Given the description of an element on the screen output the (x, y) to click on. 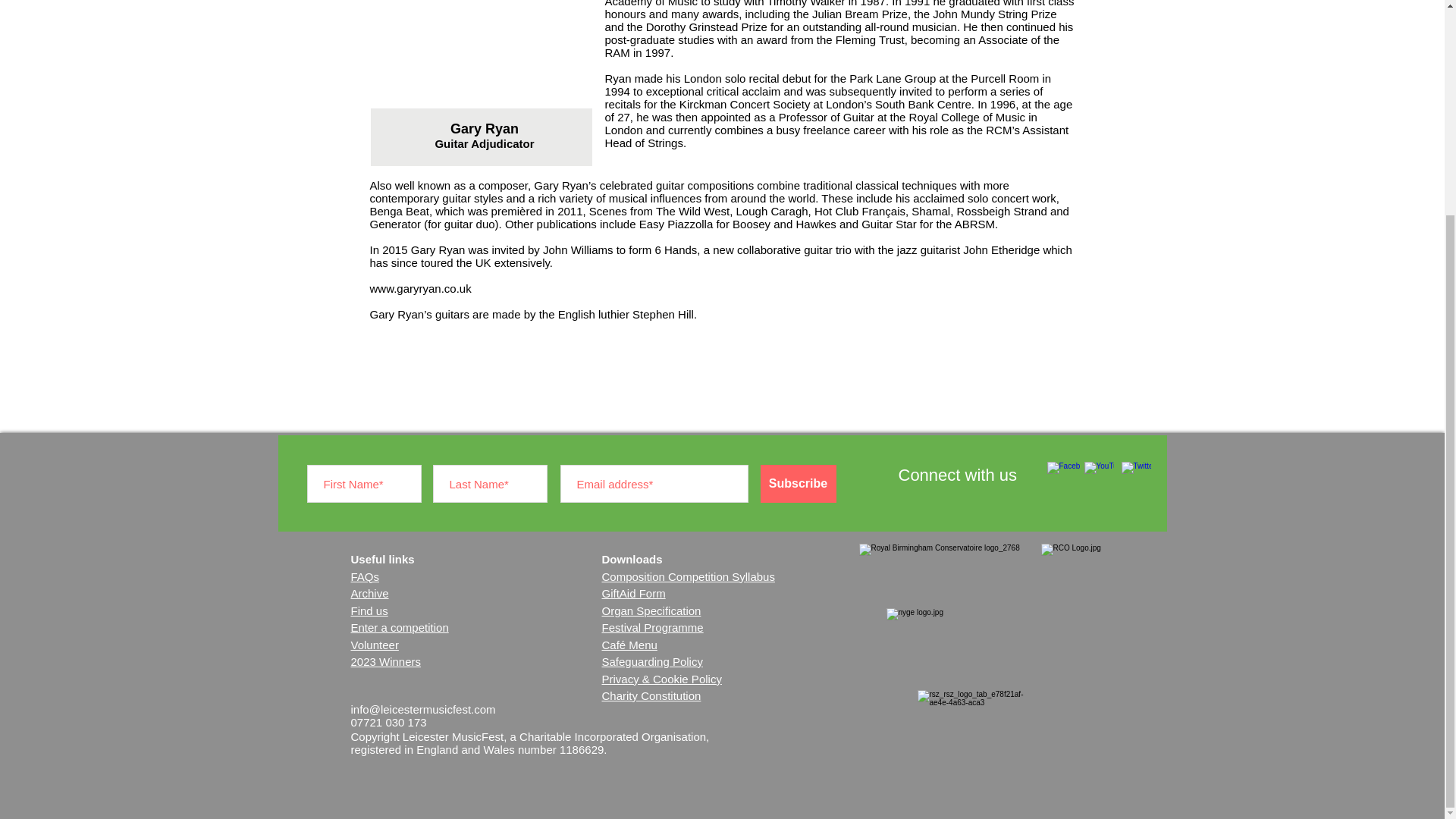
07721 030 173 (388, 721)
FAQs (364, 576)
Subscribe (797, 483)
Organ Specification (651, 609)
Enter a competition (399, 626)
GiftAid Form (633, 593)
Composition Competition Syllabus (688, 576)
www.garyryan.co.uk (420, 287)
Volunteer (373, 644)
2023 Winners (385, 661)
